Given the description of an element on the screen output the (x, y) to click on. 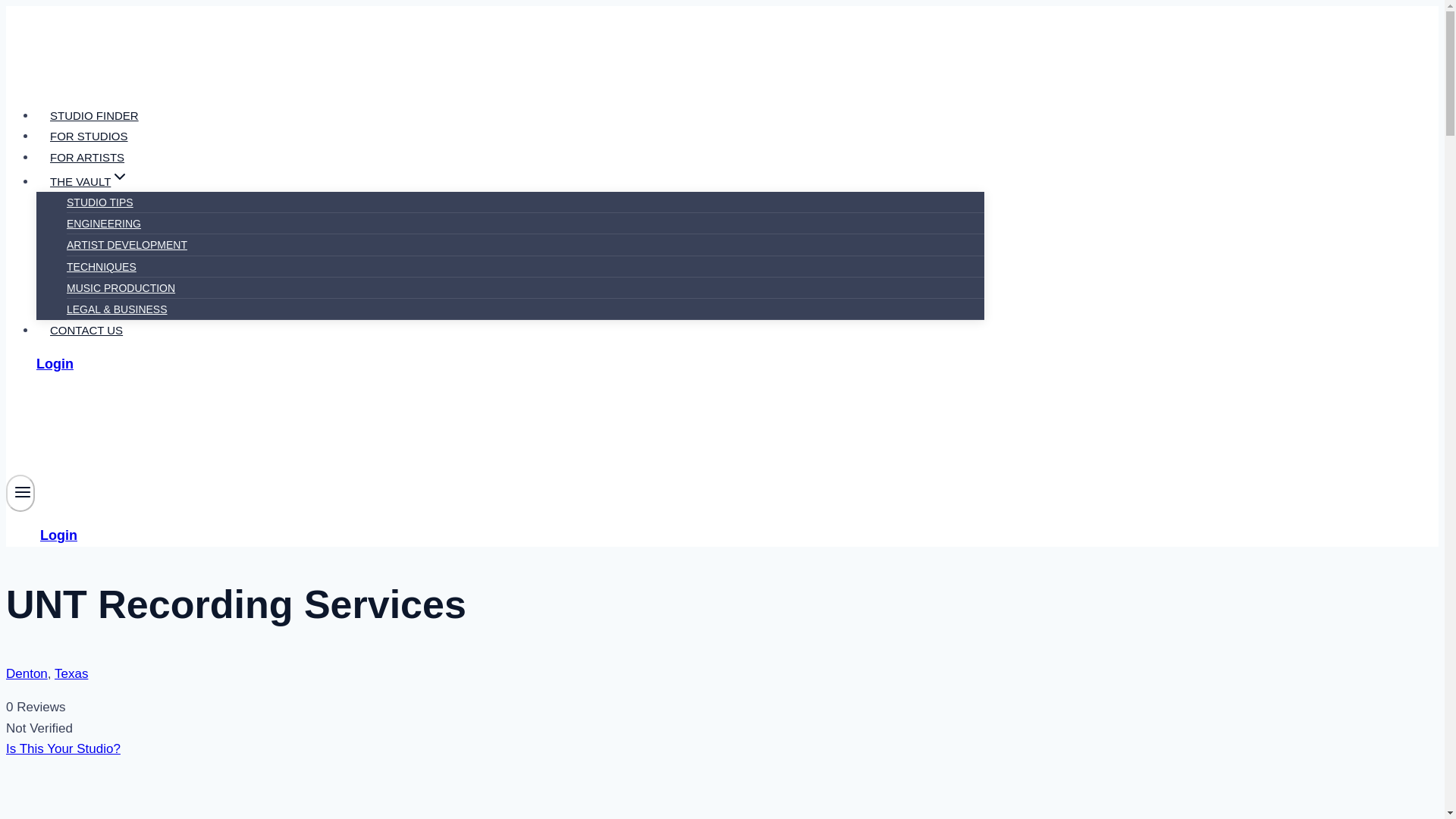
Toggle Menu (22, 492)
Login (54, 363)
ENGINEERING (103, 223)
ARTIST DEVELOPMENT (126, 244)
CONTACT US (86, 330)
MUSIC PRODUCTION (120, 287)
Denton (26, 673)
FOR ARTISTS (87, 157)
